Given the description of an element on the screen output the (x, y) to click on. 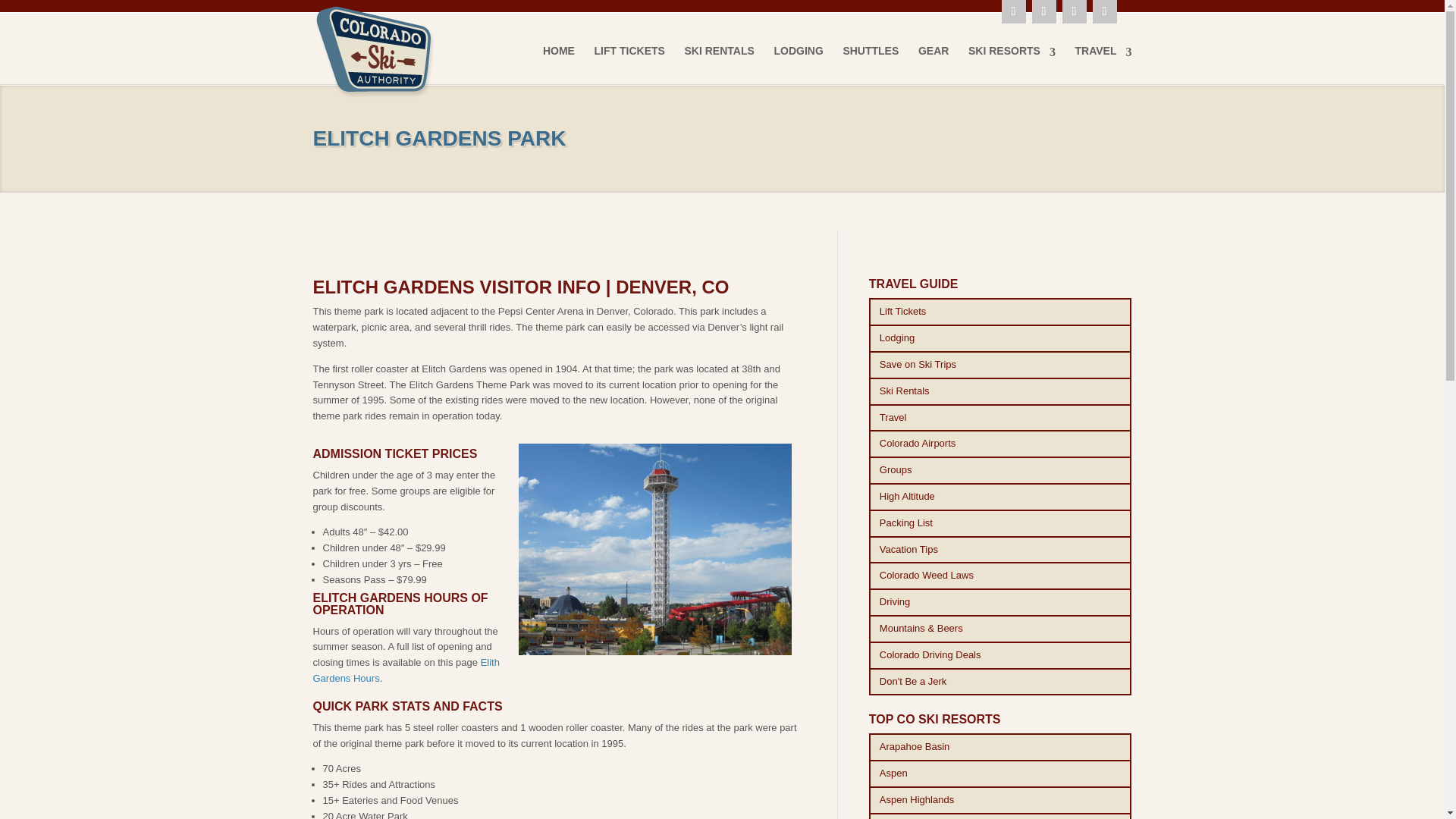
TRAVEL (1103, 63)
LIFT TICKETS (629, 63)
Travel (1000, 418)
Colorado Airports (1000, 443)
Follow on Facebook (1042, 11)
Driving (1000, 602)
High Altitude (1000, 497)
Packing List (1000, 523)
SKI RESORTS (1011, 63)
GEAR (933, 63)
Vacation Tips (1000, 550)
Colorado Weed Laws (1000, 575)
Lift Tickets (1000, 311)
SKI RENTALS (719, 63)
Lodging (1000, 338)
